Given the description of an element on the screen output the (x, y) to click on. 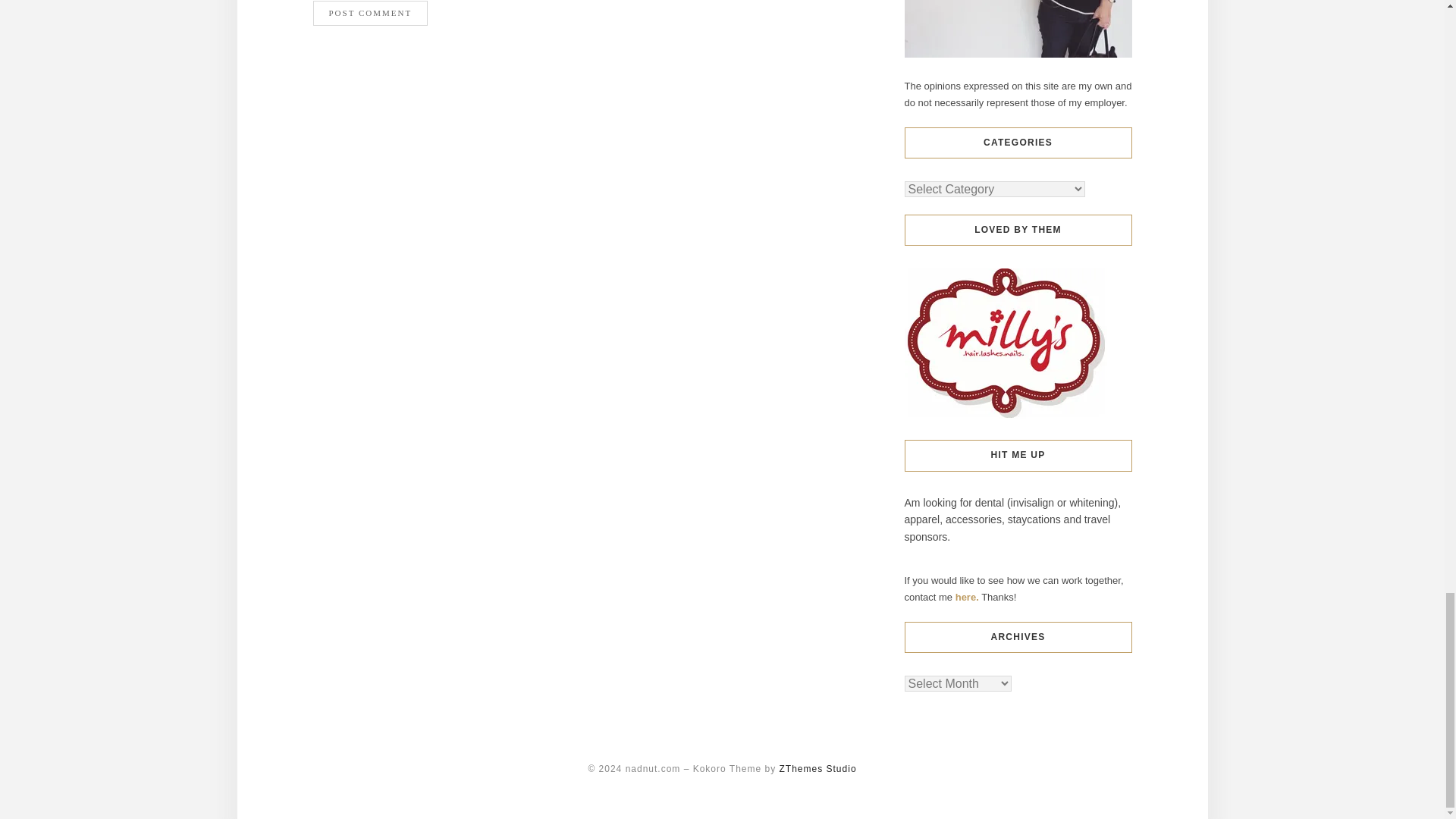
Post Comment (370, 12)
Post Comment (370, 12)
